Given the description of an element on the screen output the (x, y) to click on. 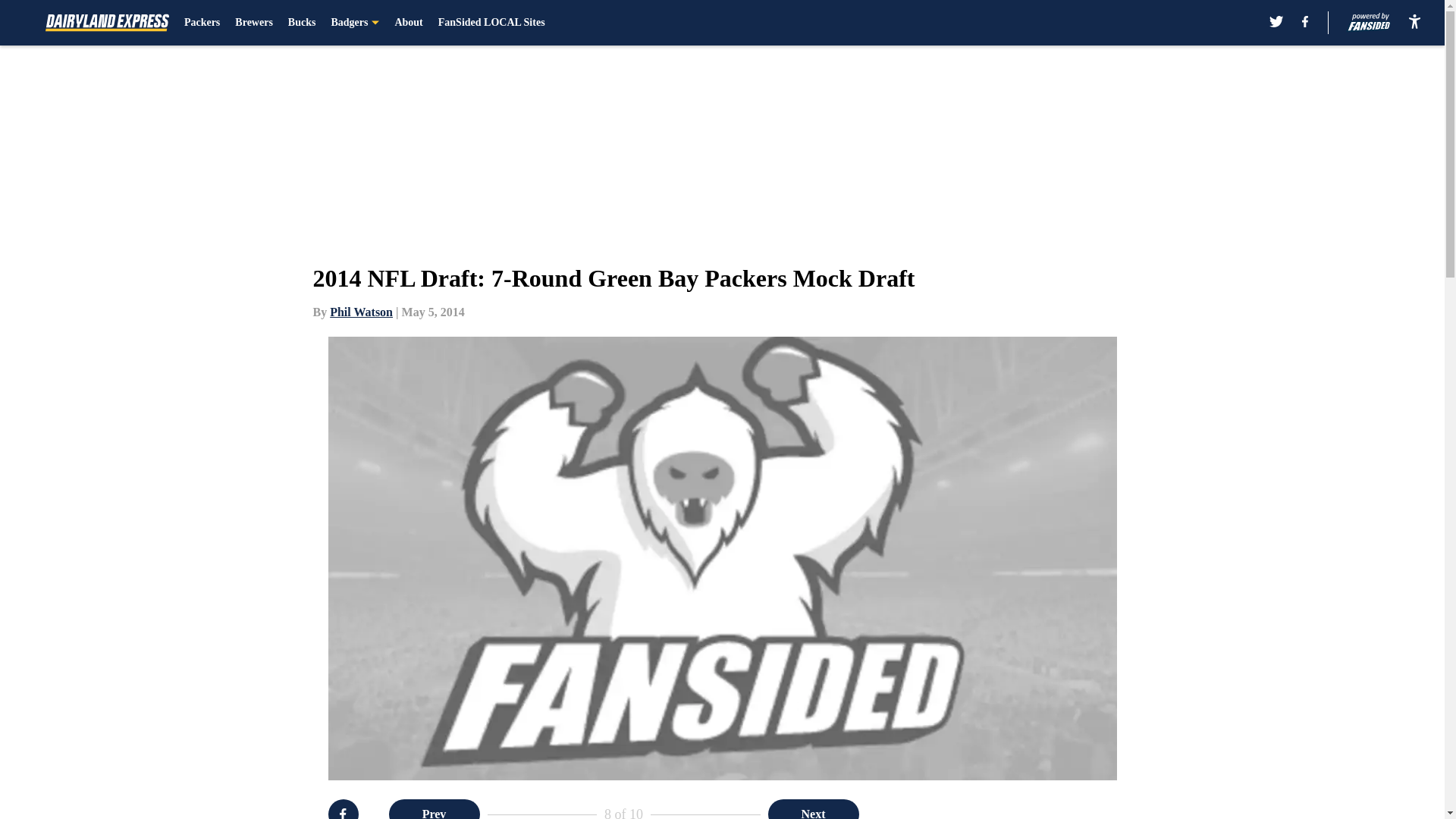
Brewers (253, 22)
About (408, 22)
Next (813, 809)
Phil Watson (361, 311)
Packers (201, 22)
FanSided LOCAL Sites (491, 22)
Bucks (301, 22)
Prev (433, 809)
